Given the description of an element on the screen output the (x, y) to click on. 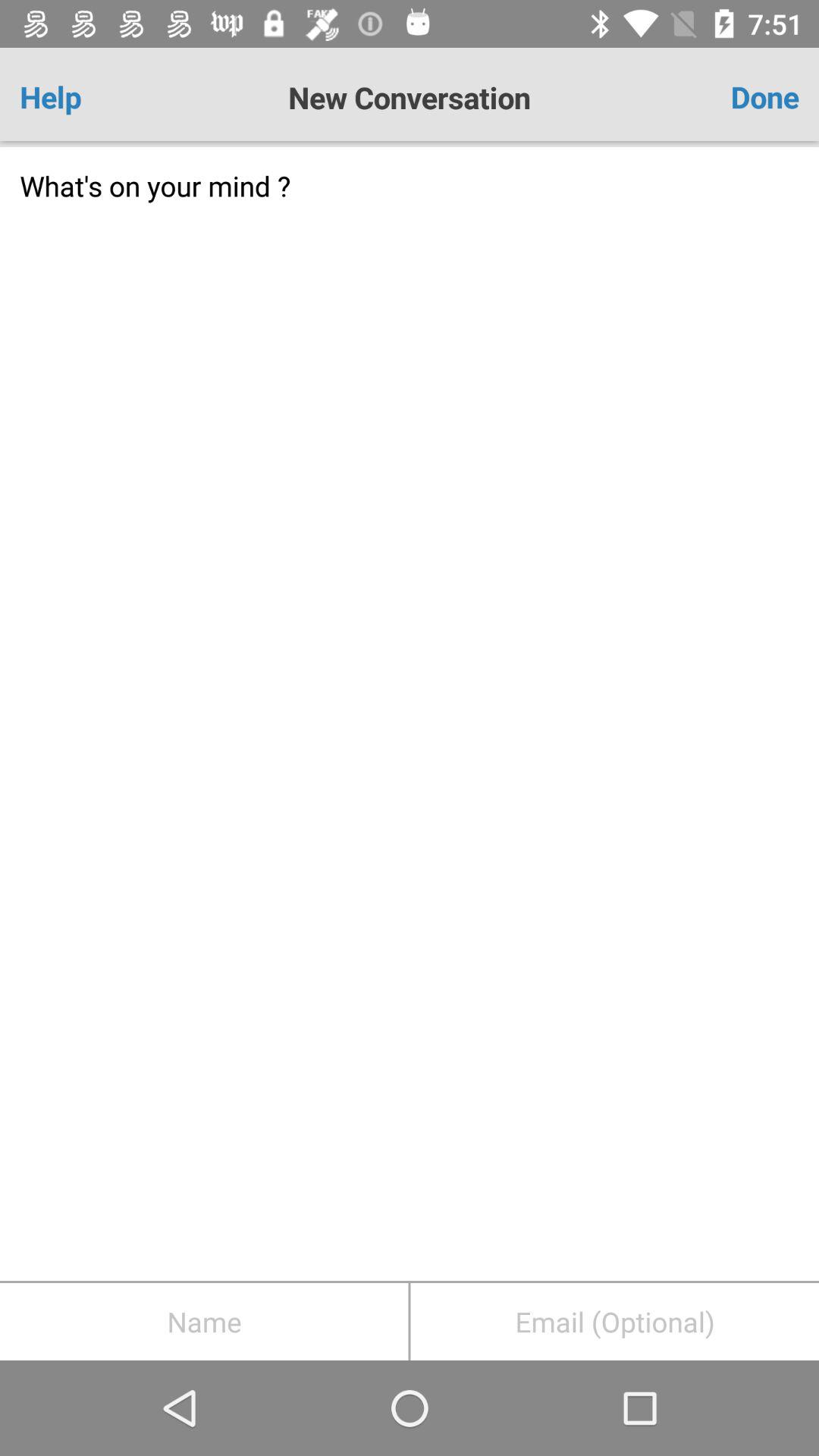
tap help (83, 97)
